Given the description of an element on the screen output the (x, y) to click on. 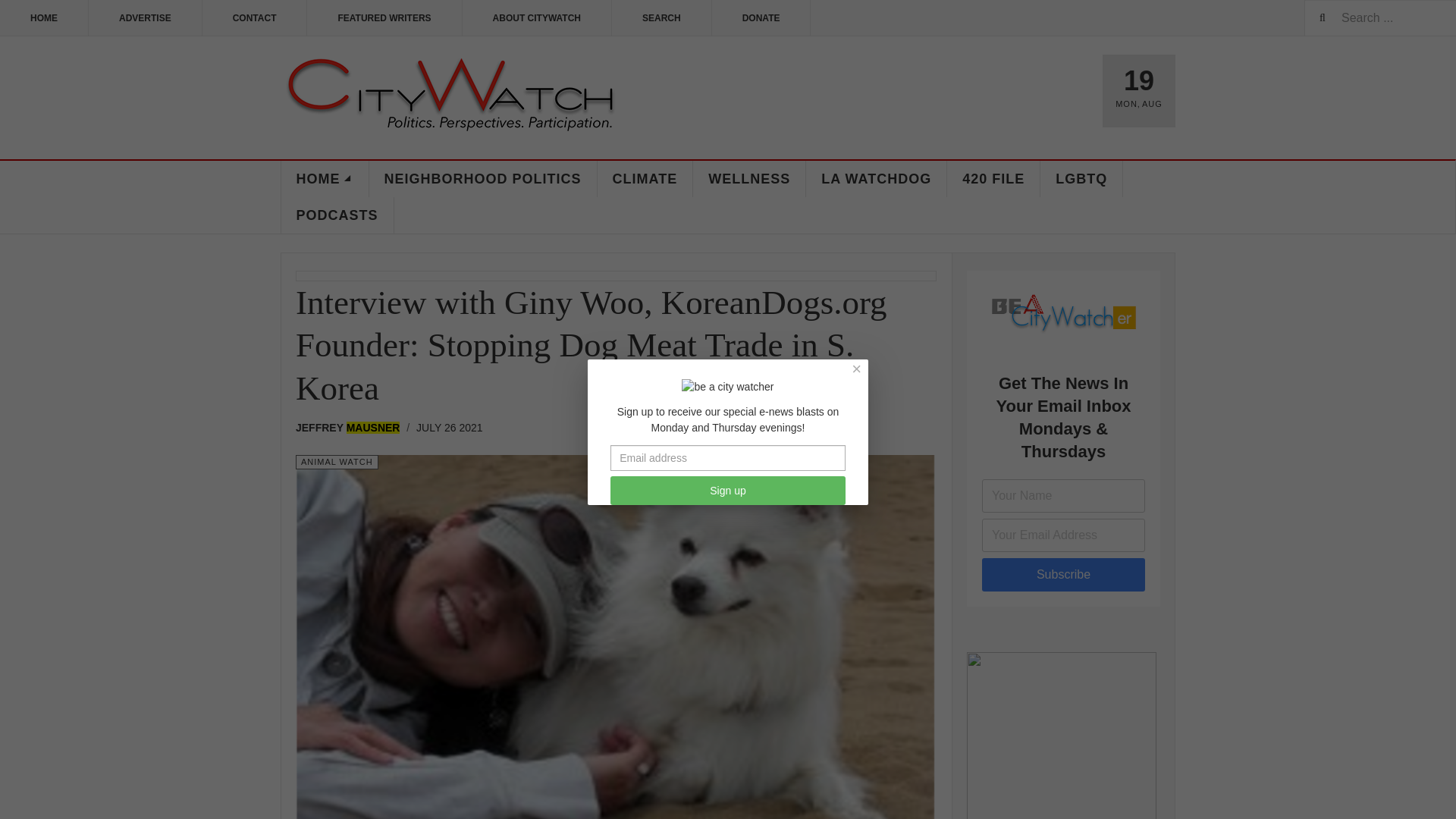
LGBTQ (1081, 178)
FEATURED WRITERS (384, 18)
420 FILE (994, 178)
WELLNESS (749, 178)
SEARCH (661, 18)
Written by  (352, 427)
PODCASTS (337, 215)
Category:  (336, 462)
CONTACT (254, 18)
CLIMATE (645, 178)
